Given the description of an element on the screen output the (x, y) to click on. 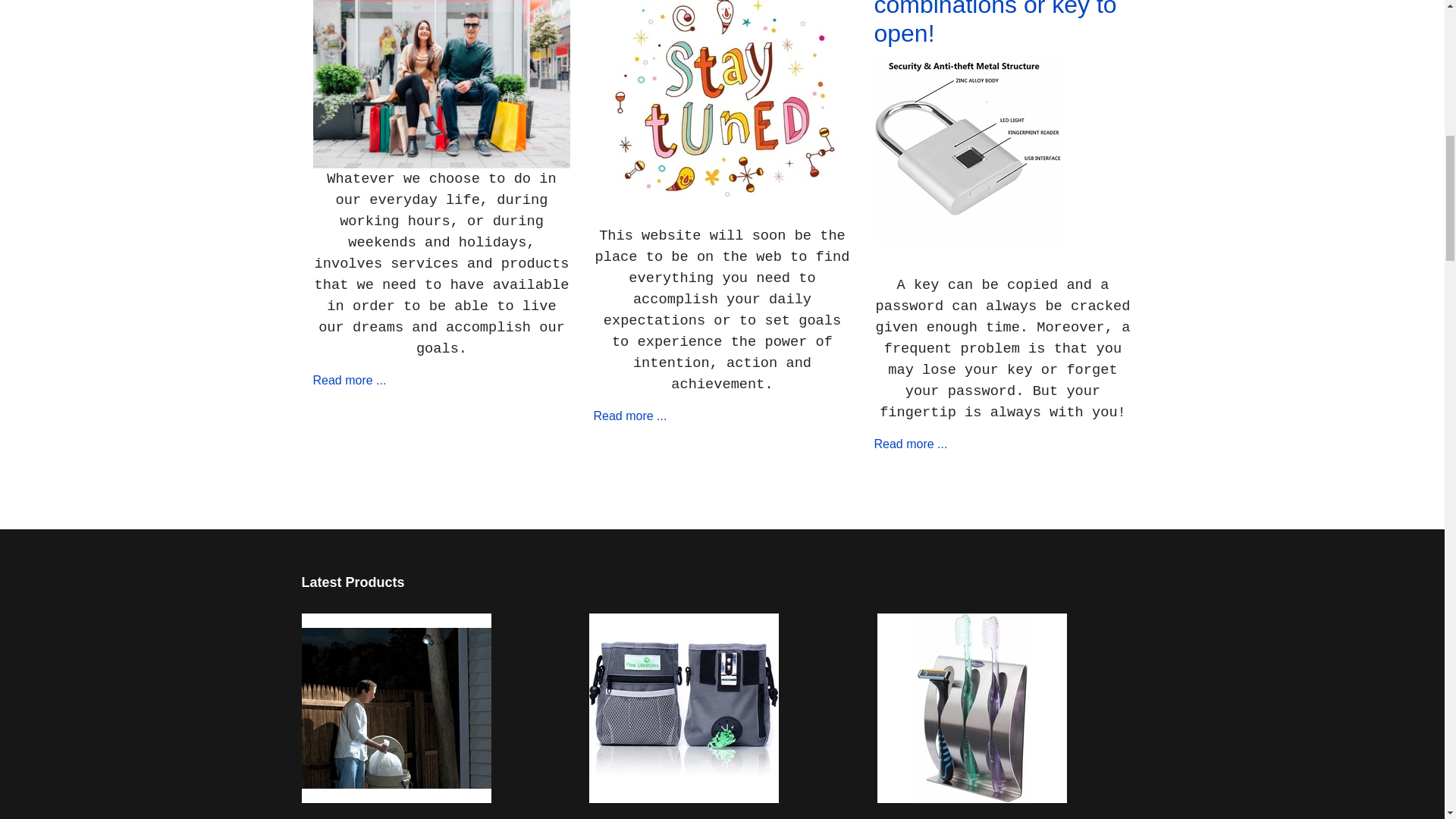
Read more ... (910, 443)
Read more ... (629, 415)
Read more ... (349, 379)
A lock that does not need any combinations or key to open! (994, 23)
